Given the description of an element on the screen output the (x, y) to click on. 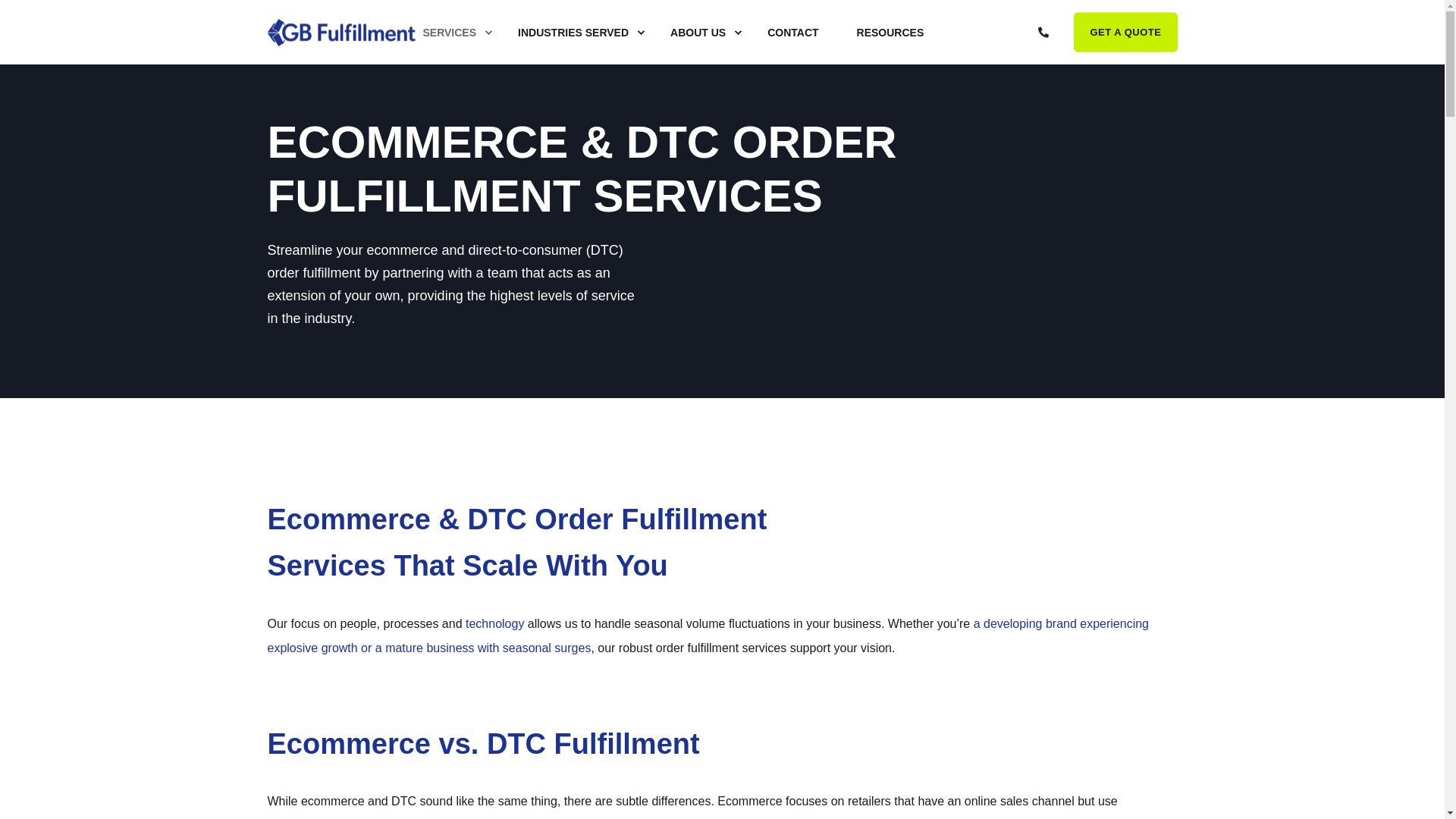
Get a Quote (1125, 32)
RESOURCES (881, 32)
SERVICES (451, 32)
GET A QUOTE (1125, 32)
CONTACT (792, 32)
INDUSTRIES SERVED (574, 32)
technology (494, 623)
ABOUT US (699, 32)
